Given the description of an element on the screen output the (x, y) to click on. 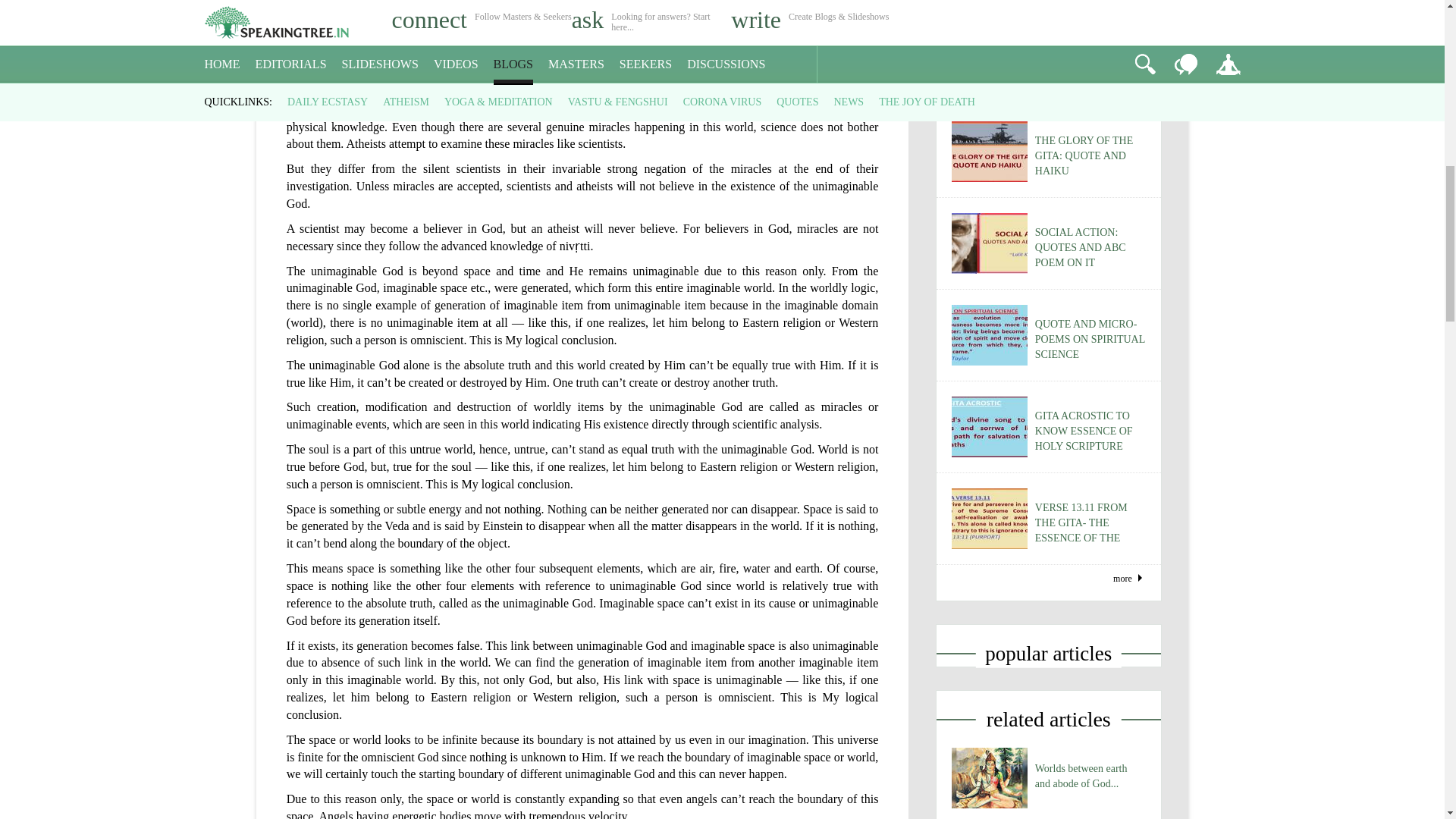
Share on Facebook (11, 150)
Share on Twitter (44, 150)
Share on Whatsapp (109, 150)
3rd party ad content (582, 47)
Share on LinkedIn (76, 150)
